Given the description of an element on the screen output the (x, y) to click on. 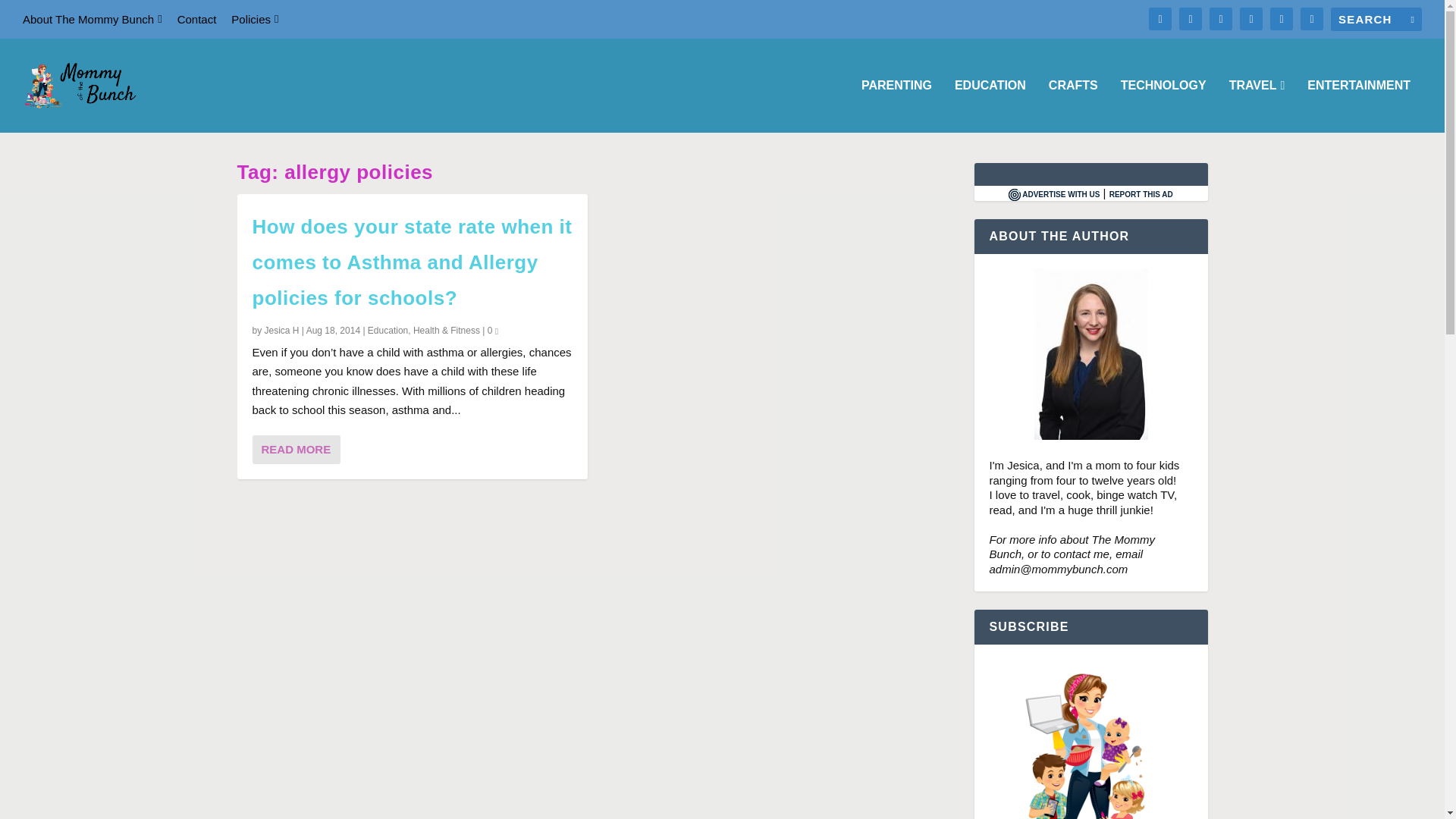
comment count (496, 331)
ENTERTAINMENT (1358, 105)
Policies (254, 19)
CRAFTS (1072, 105)
Posts by Jesica H (281, 330)
Search for: (1376, 19)
EDUCATION (990, 105)
Contact (196, 19)
TRAVEL (1256, 105)
PARENTING (896, 105)
TECHNOLOGY (1164, 105)
About The Mommy Bunch (92, 19)
